Given the description of an element on the screen output the (x, y) to click on. 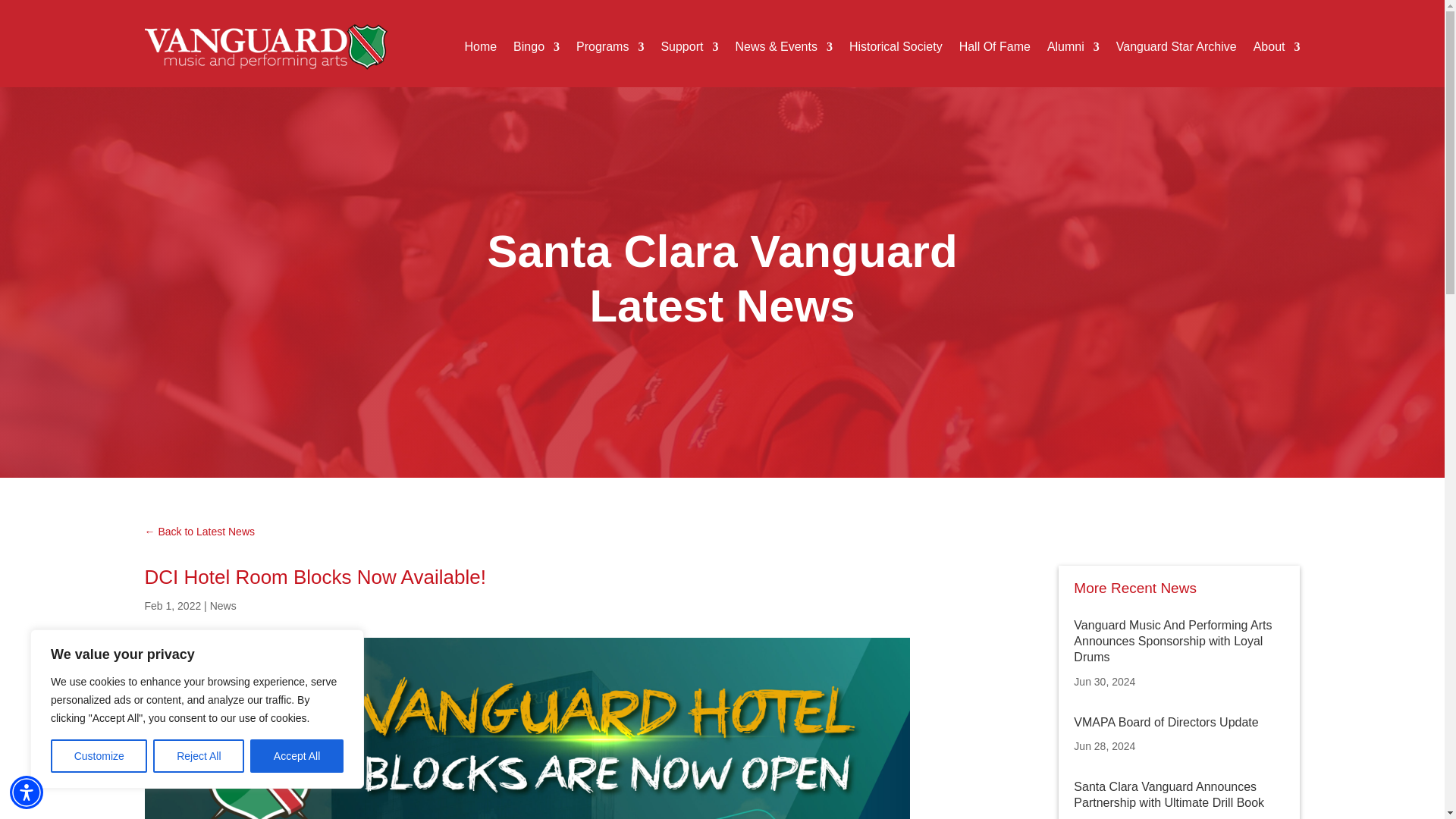
Accessibility Menu (26, 792)
Customize (98, 756)
Home (480, 47)
Bingo (536, 47)
Reject All (198, 756)
Support (689, 47)
Programs (609, 47)
Accept All (296, 756)
